Given the description of an element on the screen output the (x, y) to click on. 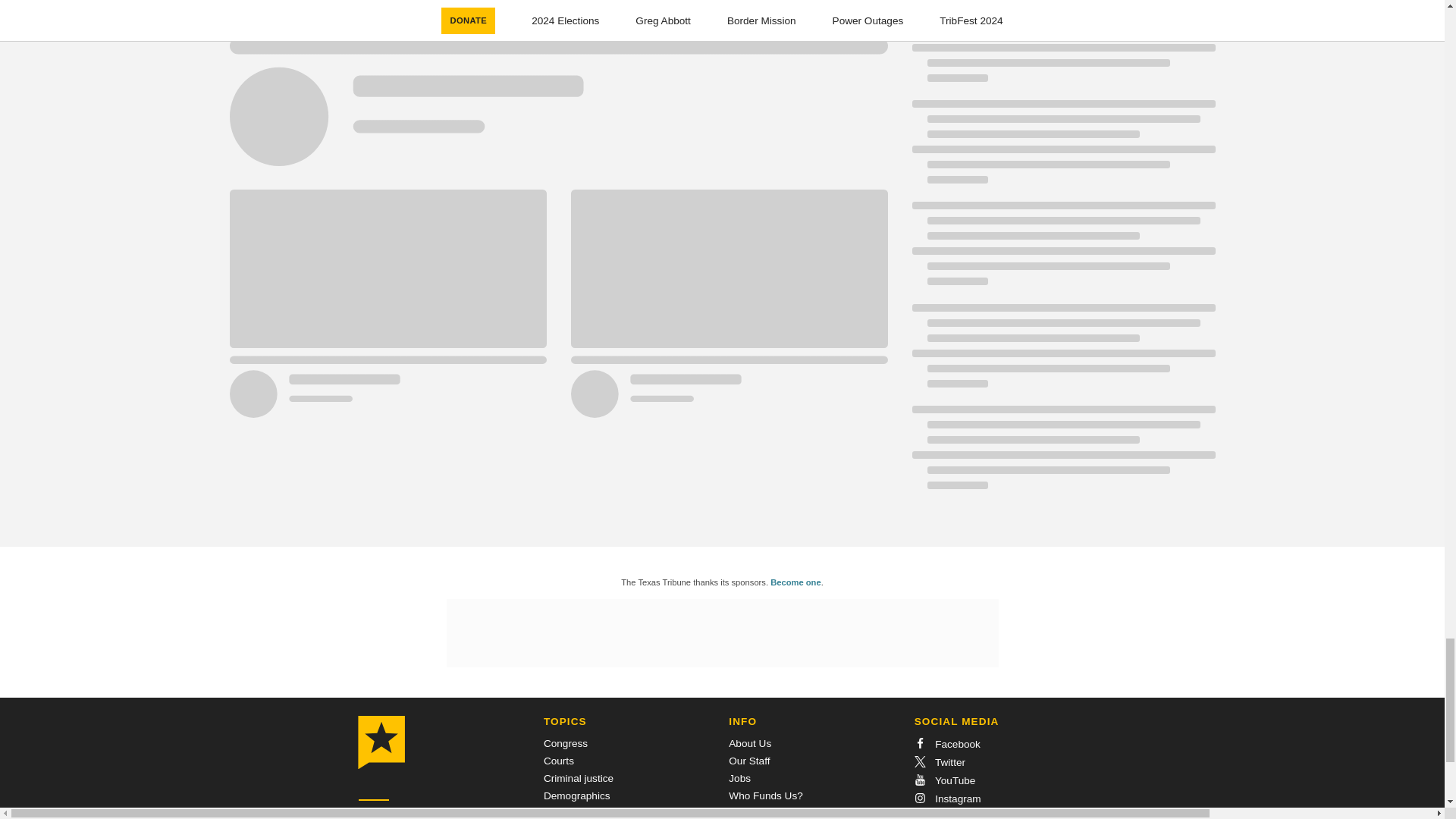
Strategic Plan (761, 813)
Who Funds Us? (765, 795)
Donate (374, 817)
Loading indicator (557, 92)
About Us (750, 743)
